Given the description of an element on the screen output the (x, y) to click on. 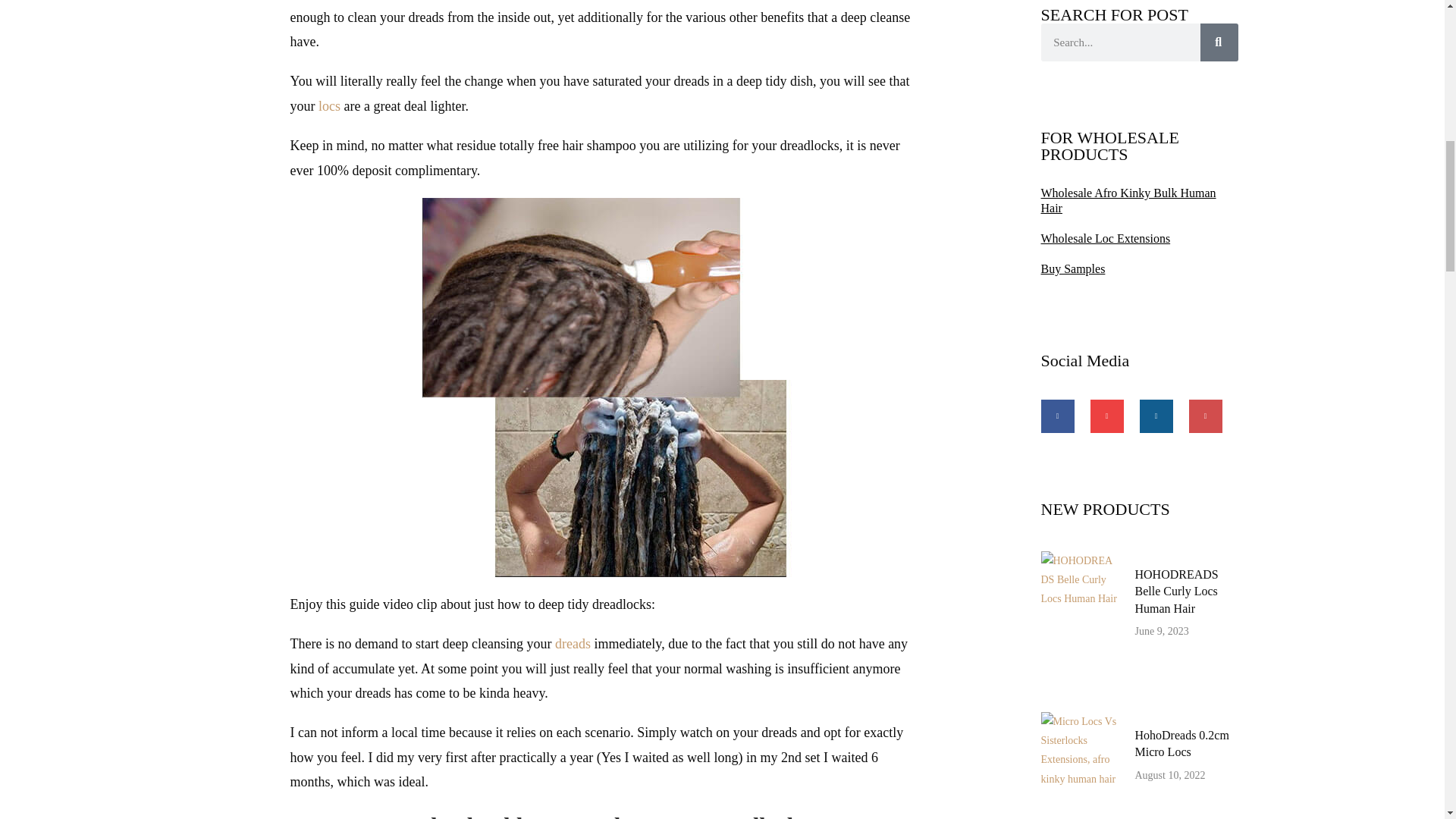
dreads (572, 643)
locs (329, 105)
Wholesale Afro Kinky Bulk Human Hair (1139, 200)
